Given the description of an element on the screen output the (x, y) to click on. 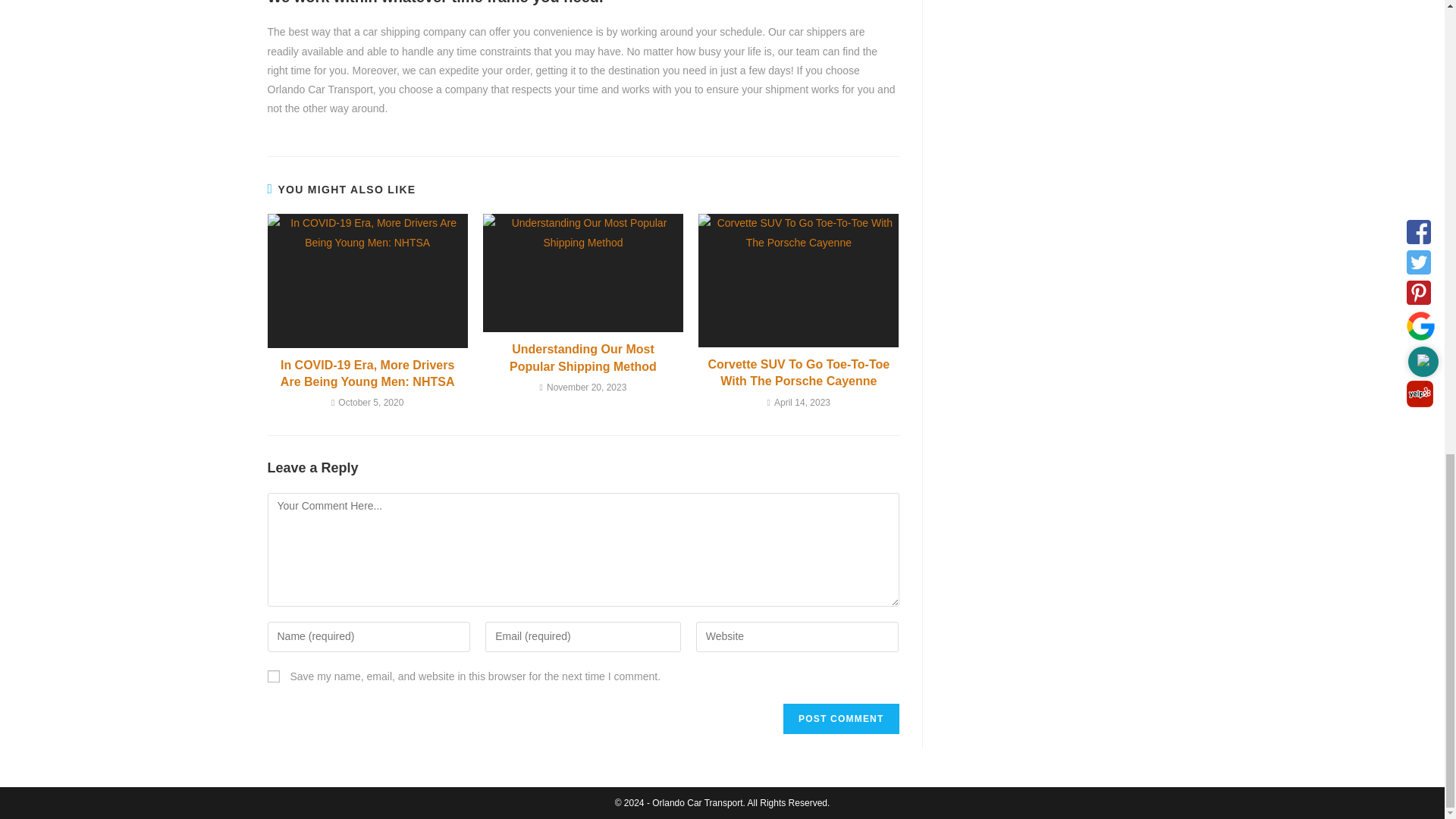
yes (272, 676)
In COVID-19 Era, More Drivers Are Being Young Men: NHTSA (367, 374)
Corvette SUV To Go Toe-To-Toe With The Porsche Cayenne (798, 373)
Understanding Our Most Popular Shipping Method (583, 358)
In COVID-19 Era, More Drivers Are Being Young Men: NHTSA (367, 374)
Corvette SUV To Go Toe-To-Toe With The Porsche Cayenne (798, 373)
Post Comment (840, 718)
Post Comment (840, 718)
Understanding Our Most Popular Shipping Method (583, 358)
